Given the description of an element on the screen output the (x, y) to click on. 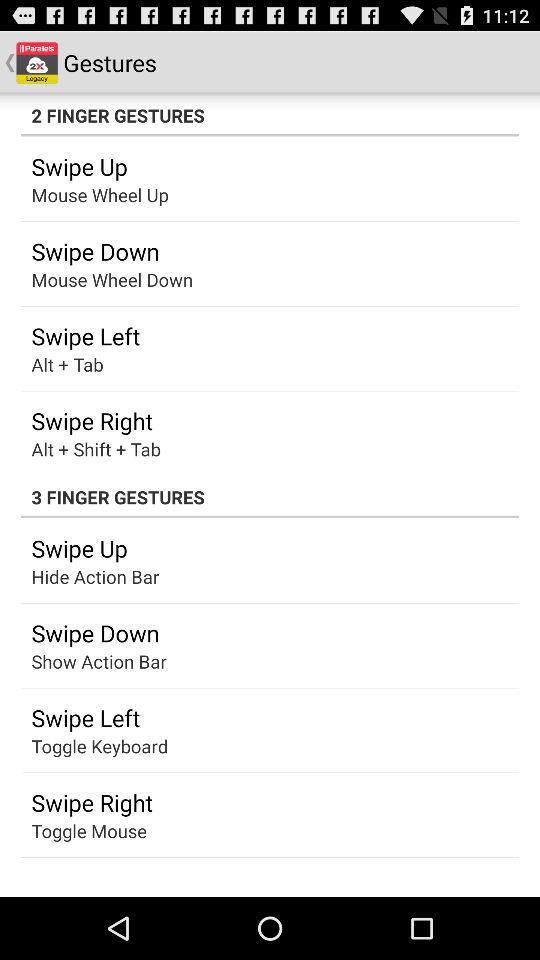
turn on icon below the swipe right icon (88, 830)
